Given the description of an element on the screen output the (x, y) to click on. 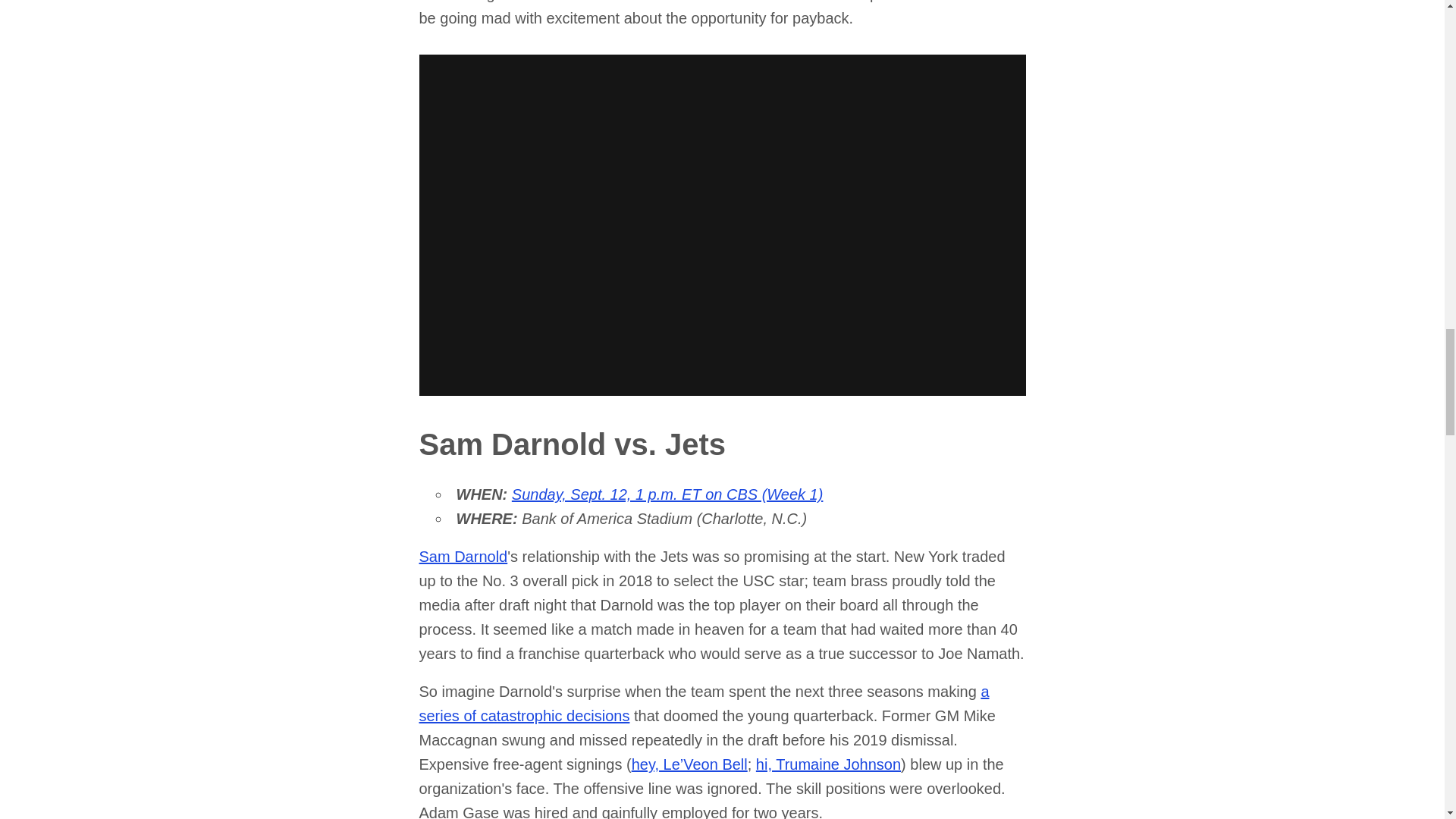
Sam Darnold (462, 556)
hi, Trumaine Johnson (828, 764)
a series of catastrophic decisions (703, 703)
